Given the description of an element on the screen output the (x, y) to click on. 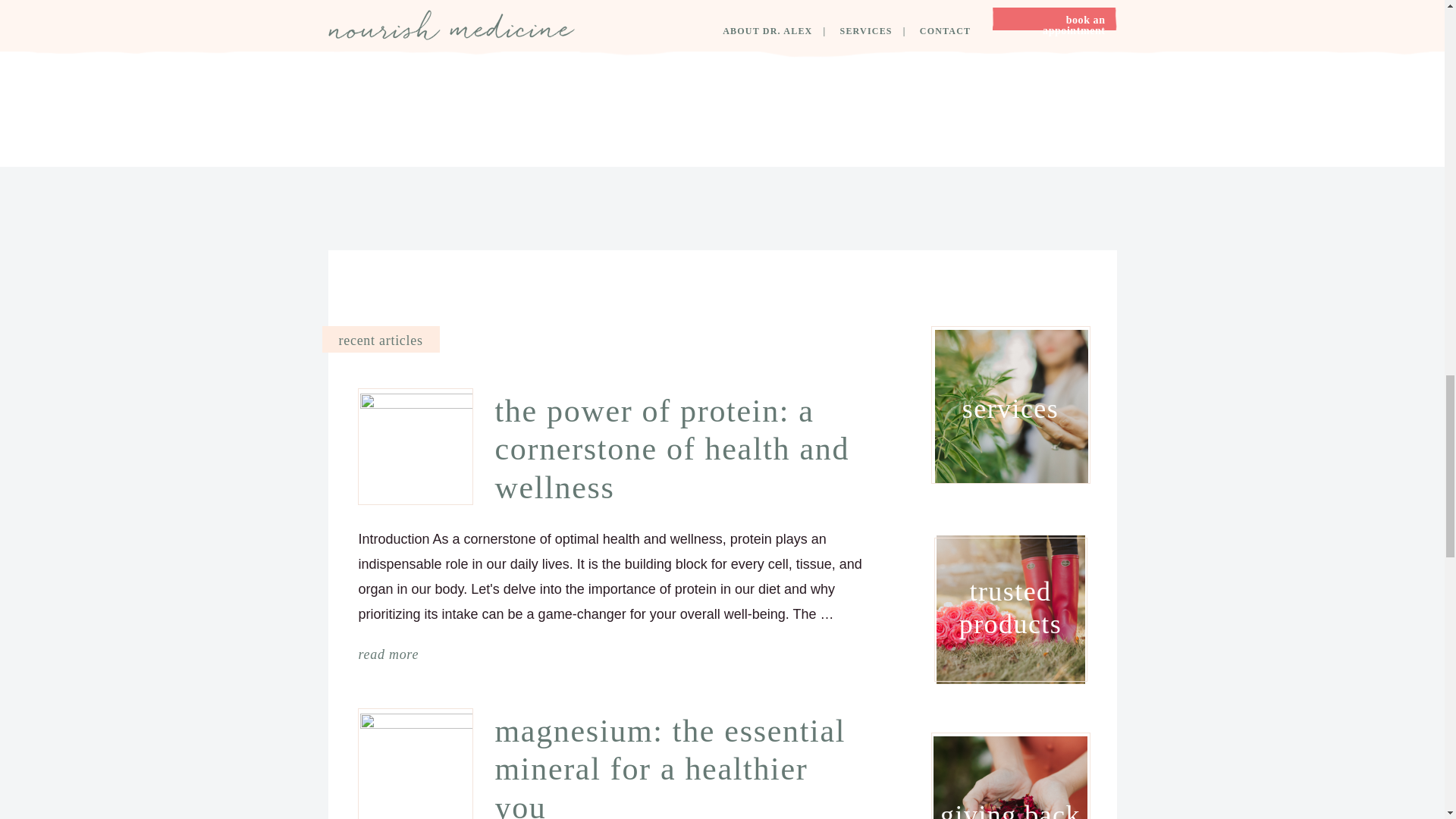
trusted products (1010, 607)
magnesium: the essential mineral for a healthier you (678, 765)
the power of protein: a cornerstone of health and wellness (678, 449)
services (1010, 408)
